Given the description of an element on the screen output the (x, y) to click on. 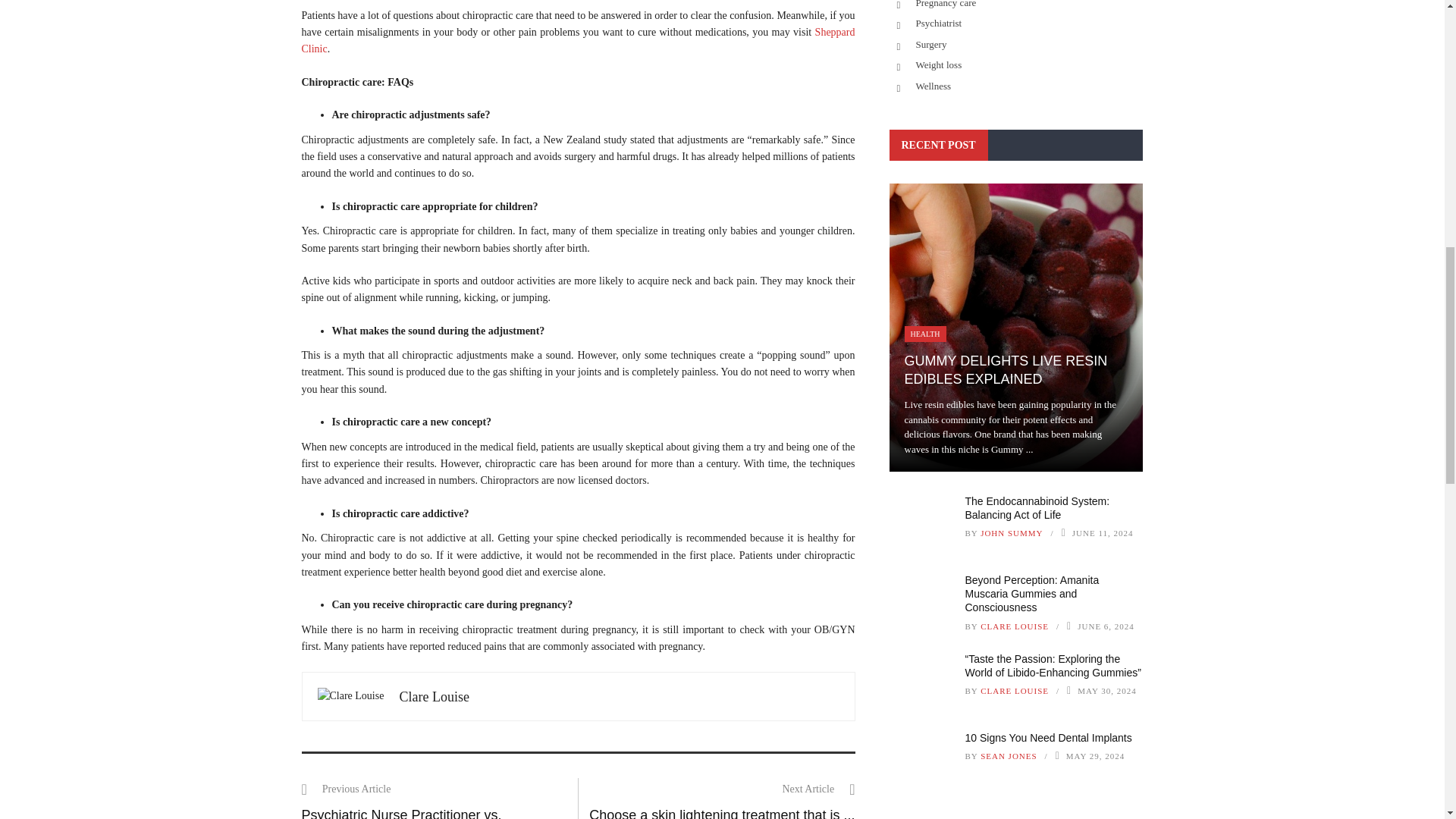
Psychiatric Nurse Practitioner vs. Psychiatrist: What is ... (401, 812)
Choose a skin lightening treatment that is ... (721, 812)
Clare Louise (433, 696)
Sheppard Clinic (578, 40)
